Given the description of an element on the screen output the (x, y) to click on. 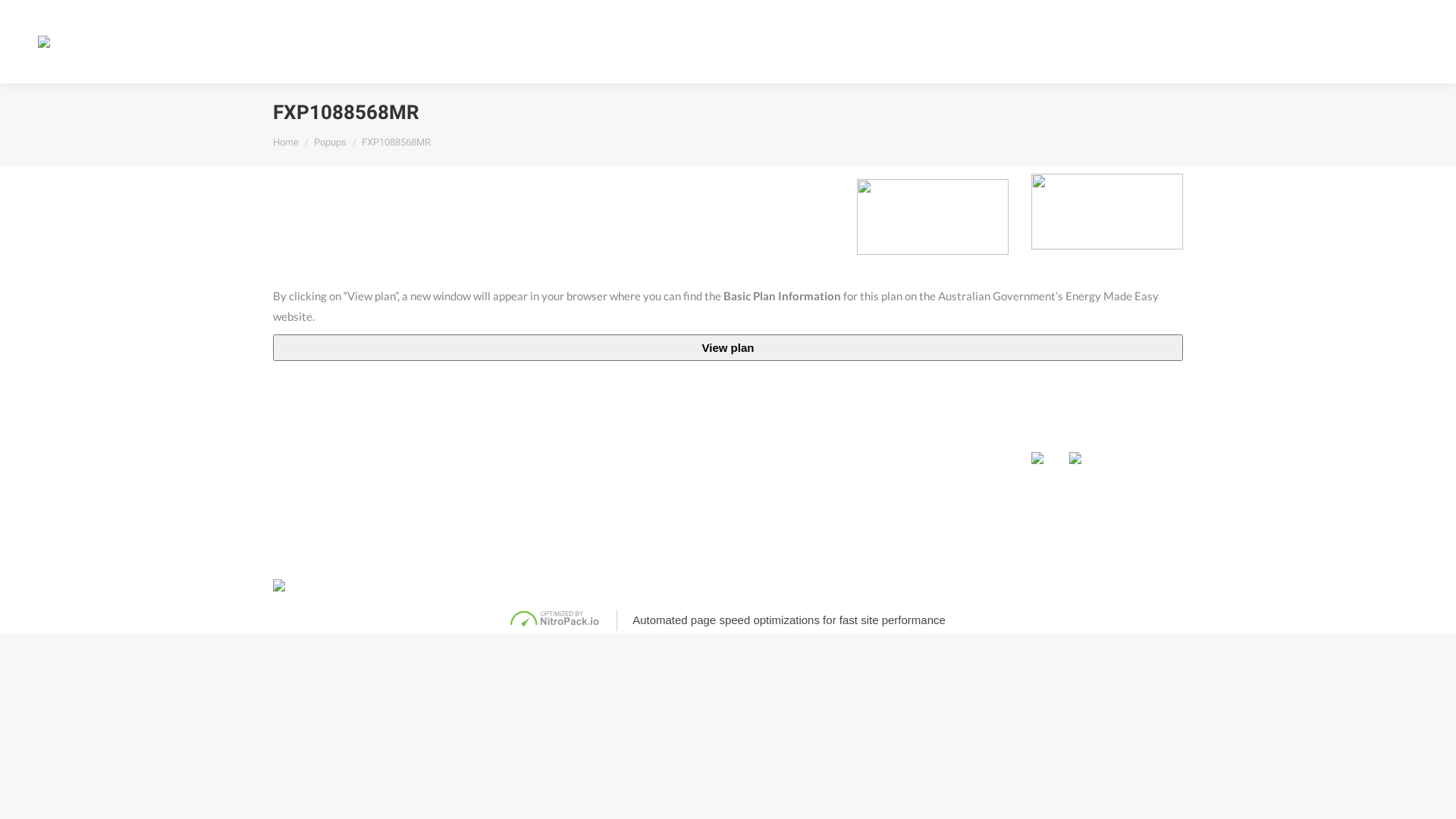
For Business Element type: text (496, 408)
About Us Element type: text (1081, 41)
About Us Element type: text (677, 408)
For Business Element type: text (997, 41)
Policy and Forms Element type: text (881, 487)
Go! Element type: text (23, 16)
Moving Home Element type: text (306, 434)
Meter and Connection Element type: text (894, 434)
Help Center Element type: text (874, 408)
Residential Plan Element type: text (310, 461)
Contact Us Element type: text (1250, 41)
Terms and Conditions Element type: text (1032, 584)
For Home Element type: text (912, 41)
For Home Element type: text (299, 408)
Sustainability Element type: text (683, 461)
Contact Us Element type: text (1061, 408)
Business Plan Element type: text (494, 461)
Privacy Policy Element type: text (946, 584)
Help Center Element type: text (1163, 41)
Our Story Element type: text (675, 434)
Home Element type: text (285, 141)
My Account Element type: text (1360, 41)
Emergencies and Outage Element type: text (899, 514)
Rates and Contracts Element type: text (888, 461)
Moving Business Element type: text (501, 434)
View plan Element type: text (728, 347)
